Given the description of an element on the screen output the (x, y) to click on. 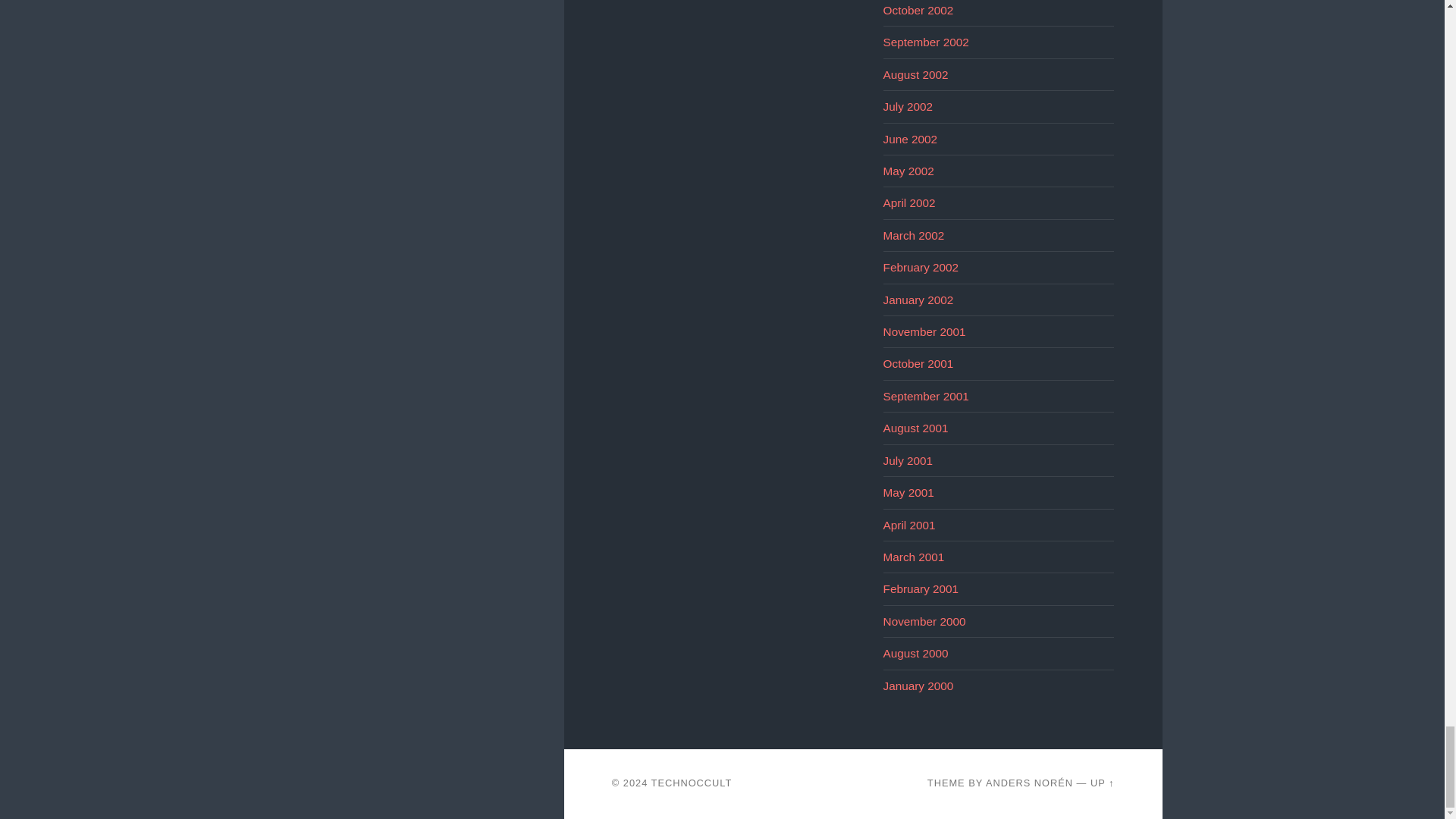
Technoccult (691, 782)
To the top (1102, 782)
